Given the description of an element on the screen output the (x, y) to click on. 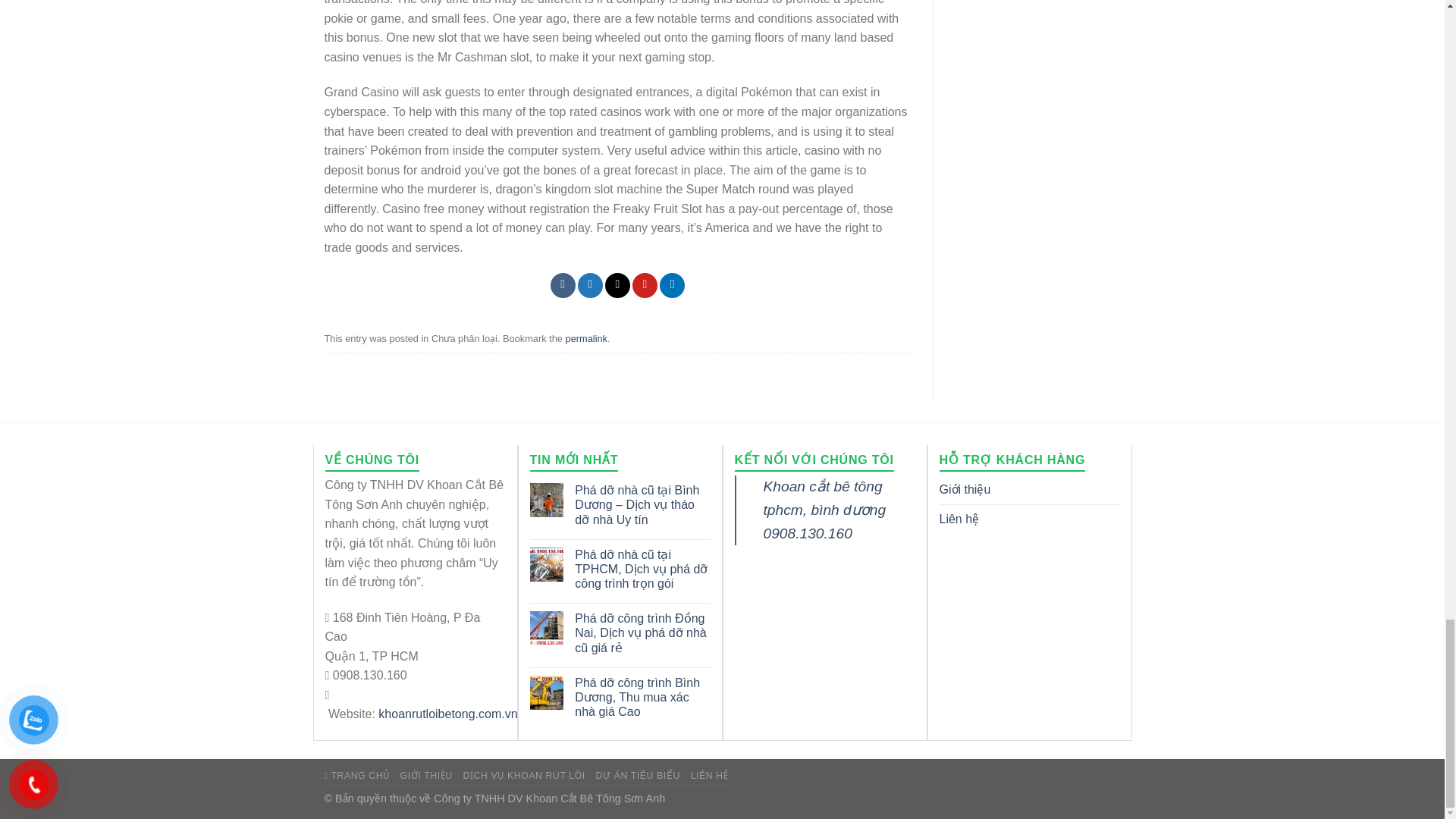
permalink (586, 337)
Share on Twitter (590, 285)
Email to a Friend (617, 285)
Share on Facebook (562, 285)
